Given the description of an element on the screen output the (x, y) to click on. 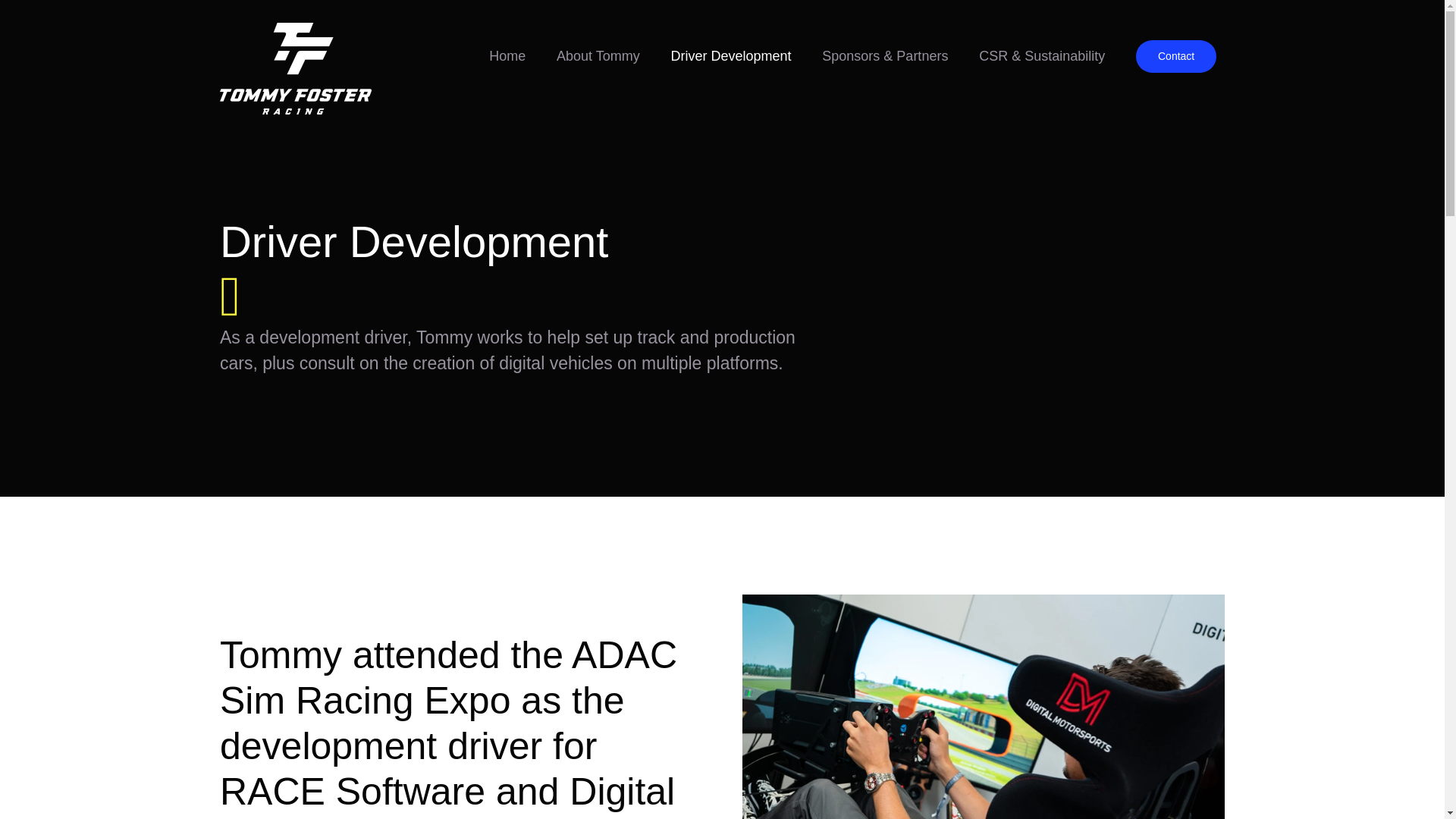
Contact (1175, 55)
Driver Development (729, 55)
About Tommy (598, 55)
Digital Motorsport (983, 706)
